Given the description of an element on the screen output the (x, y) to click on. 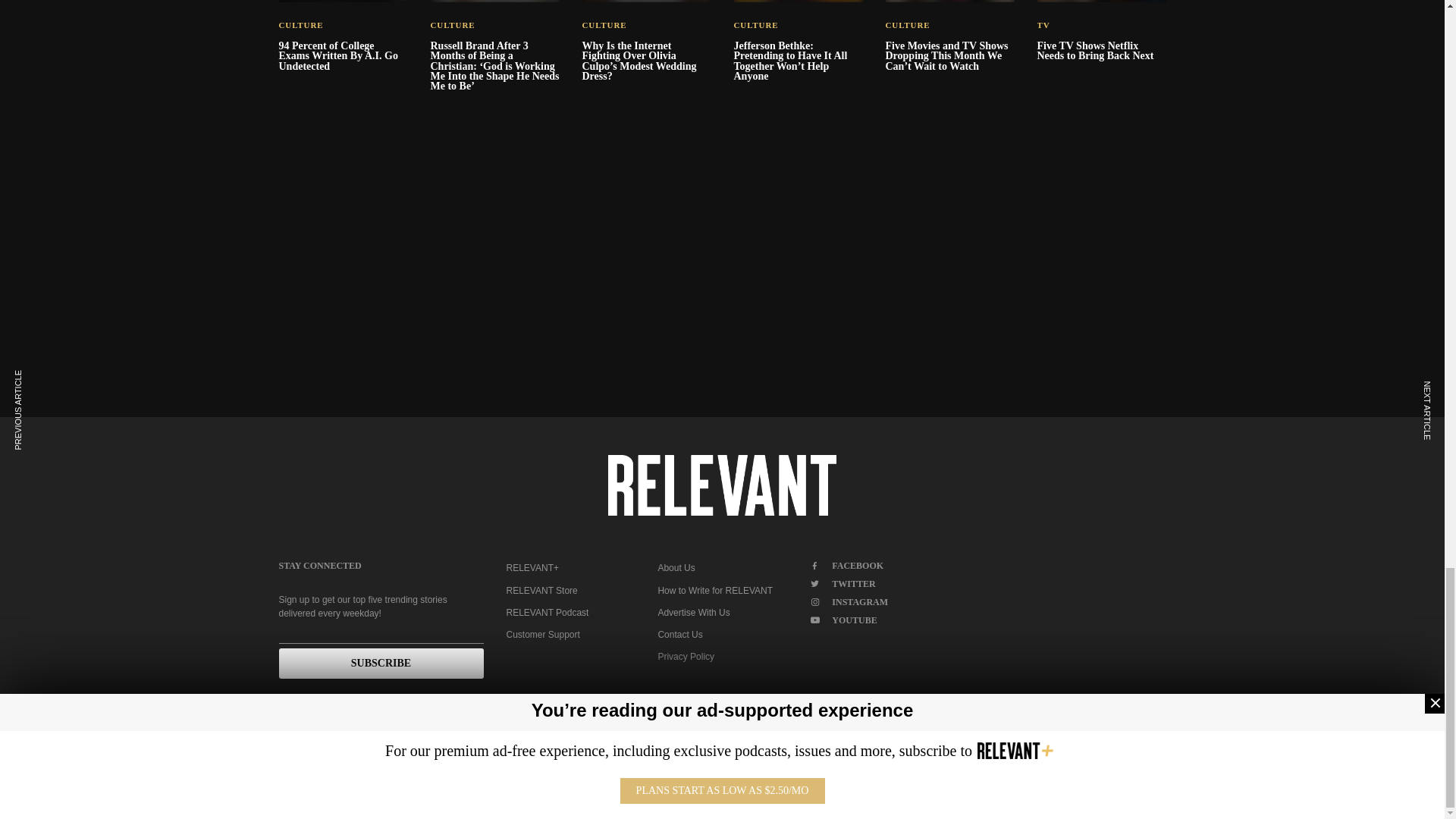
Subscribe (381, 663)
